Given the description of an element on the screen output the (x, y) to click on. 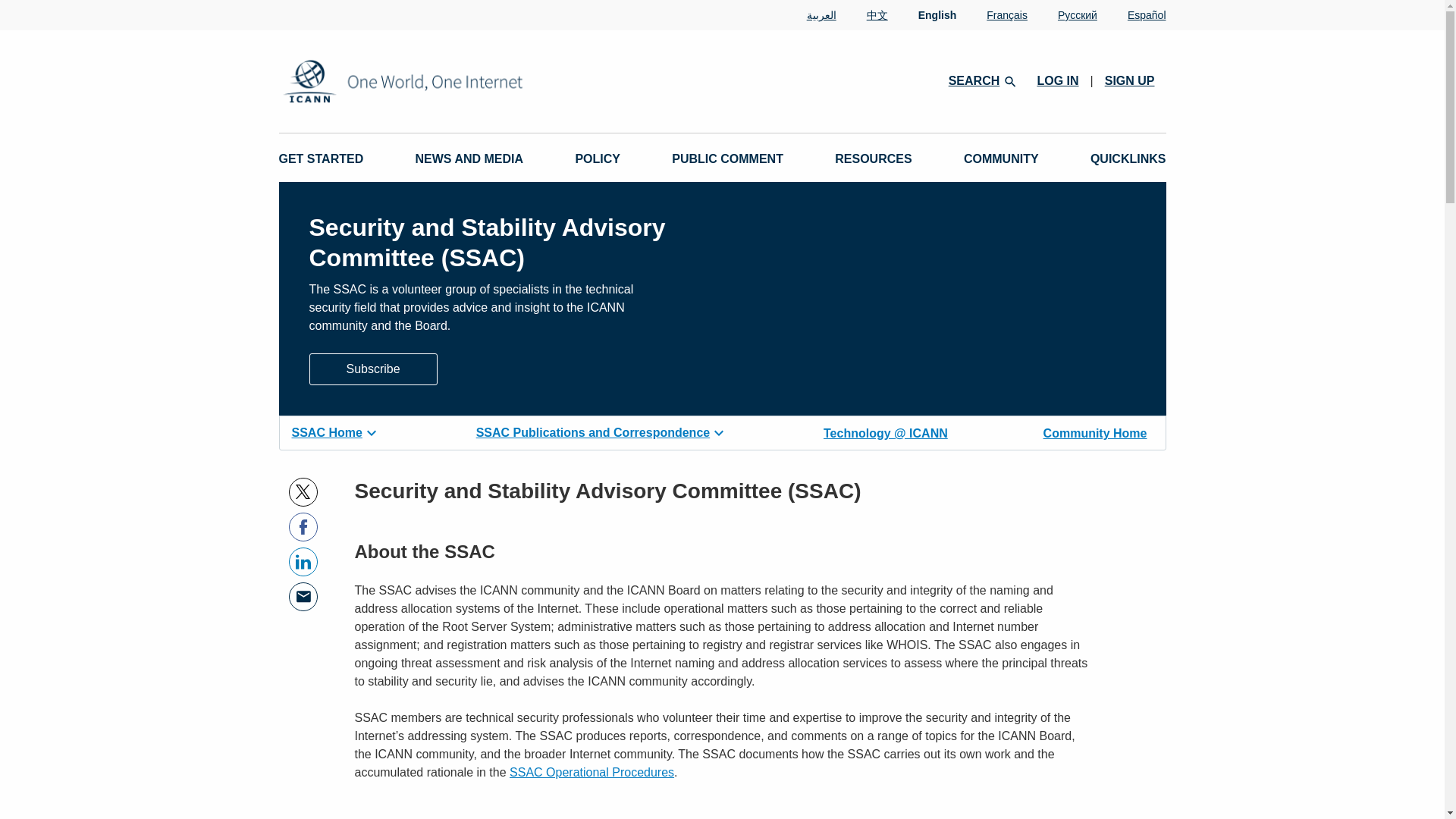
RESOURCES (872, 158)
Subscribe (373, 368)
PUBLIC COMMENT (727, 158)
COMMUNITY (1001, 158)
QUICKLINKS (1128, 158)
GET STARTED (321, 158)
Community Home (1095, 431)
POLICY (597, 158)
Logo (452, 81)
SIGN UP (1129, 80)
